Given the description of an element on the screen output the (x, y) to click on. 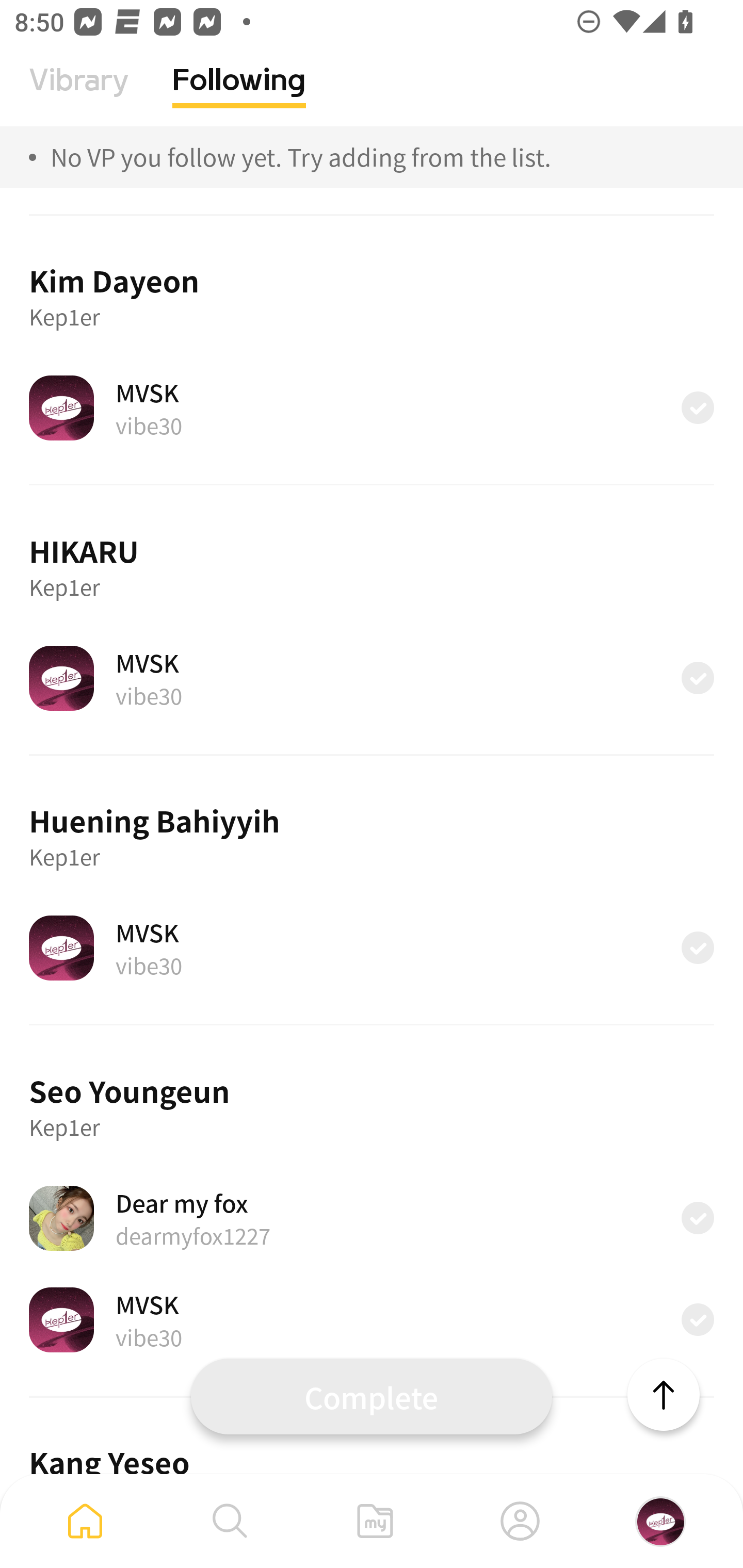
Vibrary (78, 95)
Following (239, 95)
MVSK vibe30 (371, 407)
MVSK vibe30 (371, 678)
MVSK vibe30 (371, 947)
Dear my fox dearmyfox1227 (371, 1218)
MVSK vibe30 (371, 1319)
Complete (371, 1395)
